Given the description of an element on the screen output the (x, y) to click on. 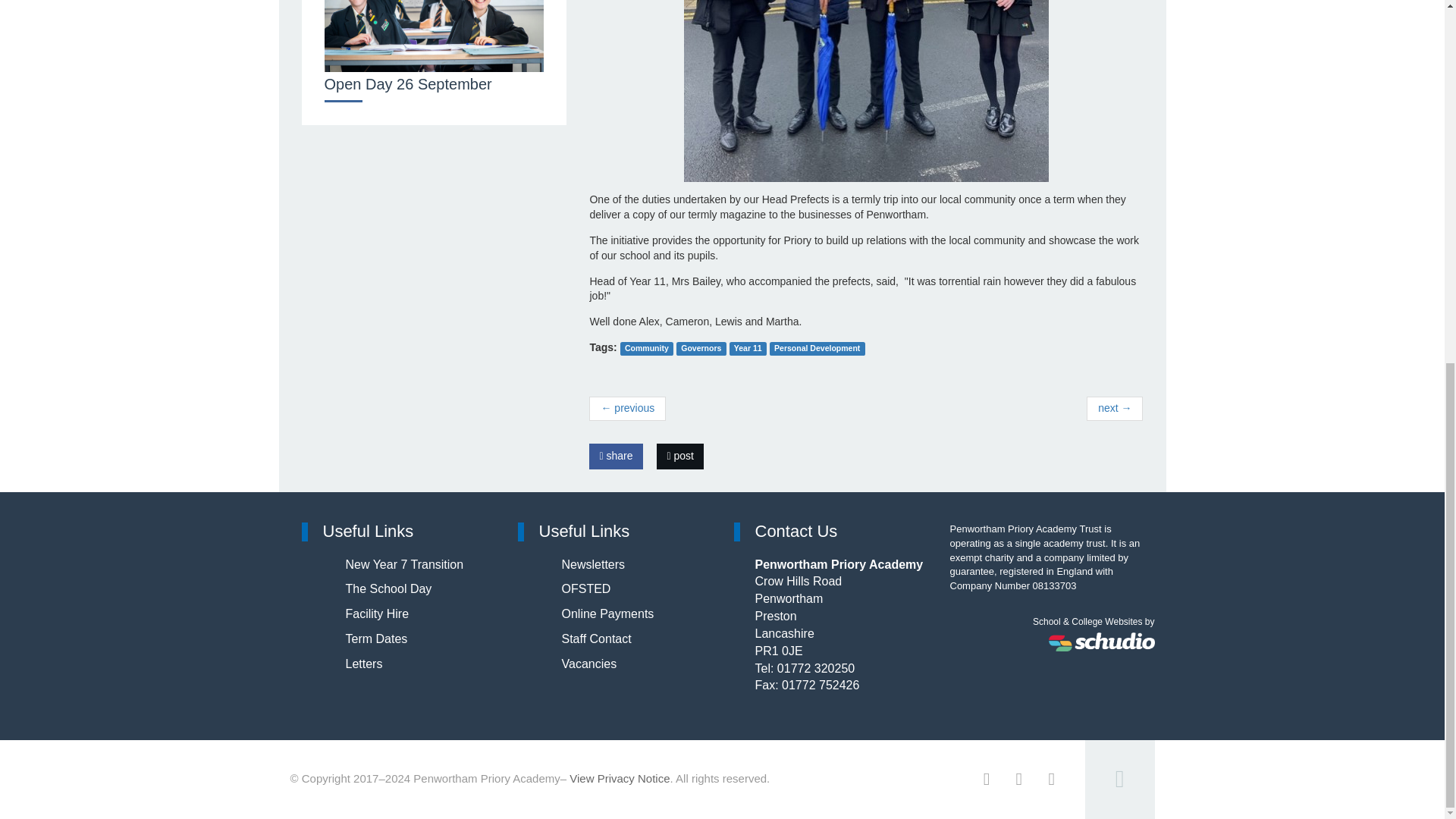
Community (646, 348)
Governors (701, 348)
Year 11 (748, 348)
Share on Facebook (615, 456)
Post on X (679, 456)
Personal Development (817, 348)
Priory celebrates European Day of Languages (1114, 408)
share (615, 456)
post (679, 456)
From Primary to Priory at Open Evening 2023 (627, 408)
